Given the description of an element on the screen output the (x, y) to click on. 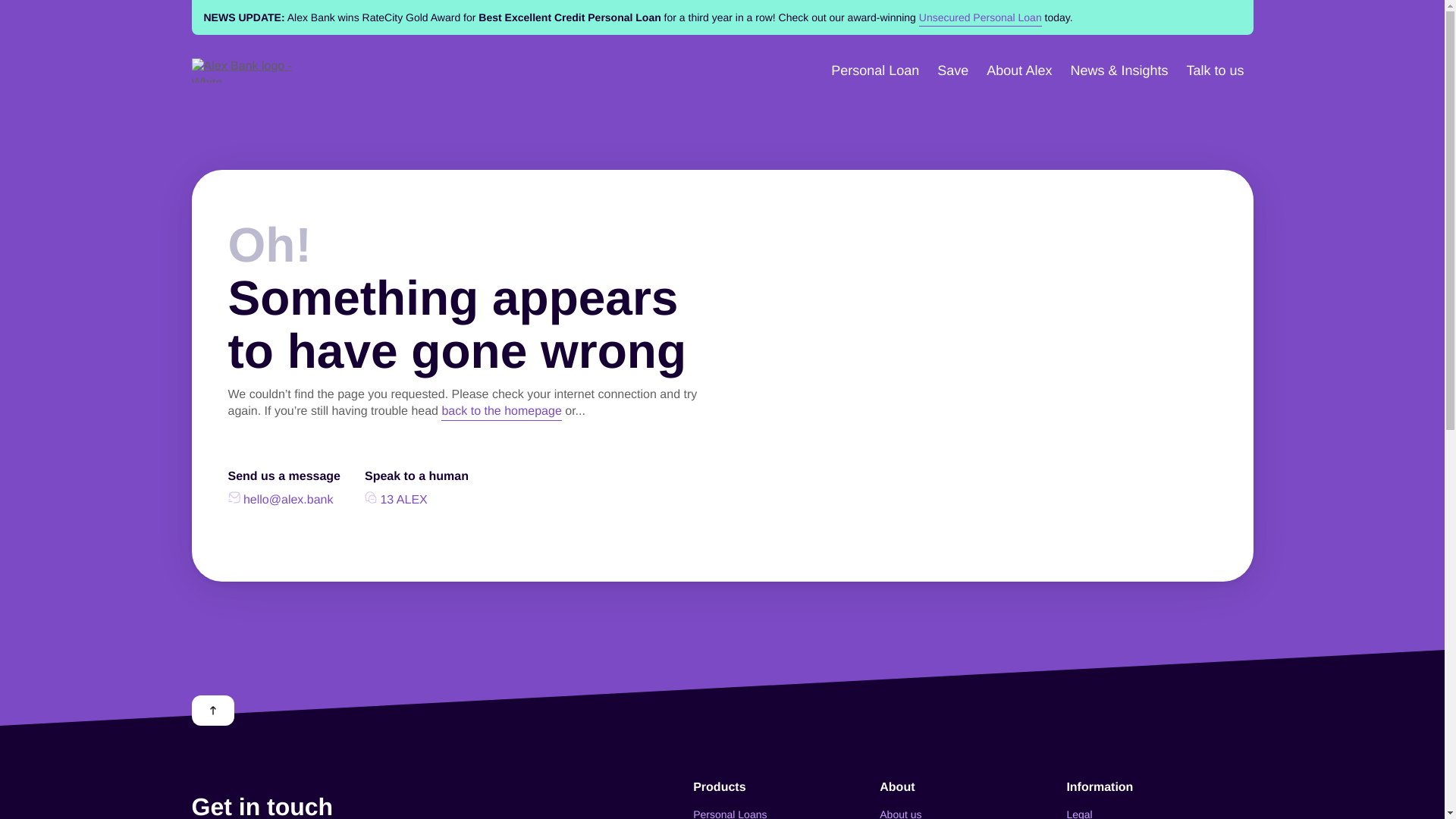
back to the homepage Element type: text (501, 411)
News & Insights Element type: text (1118, 70)
Save Element type: text (952, 70)
Talk to us Element type: text (1214, 70)
13 ALEX Element type: text (395, 499)
Alex Bank Element type: hover (250, 70)
hello@alex.bank Element type: text (279, 499)
Unsecured Personal Loan Element type: text (980, 17)
About Alex Element type: text (1018, 70)
Personal Loan Element type: text (875, 70)
